Given the description of an element on the screen output the (x, y) to click on. 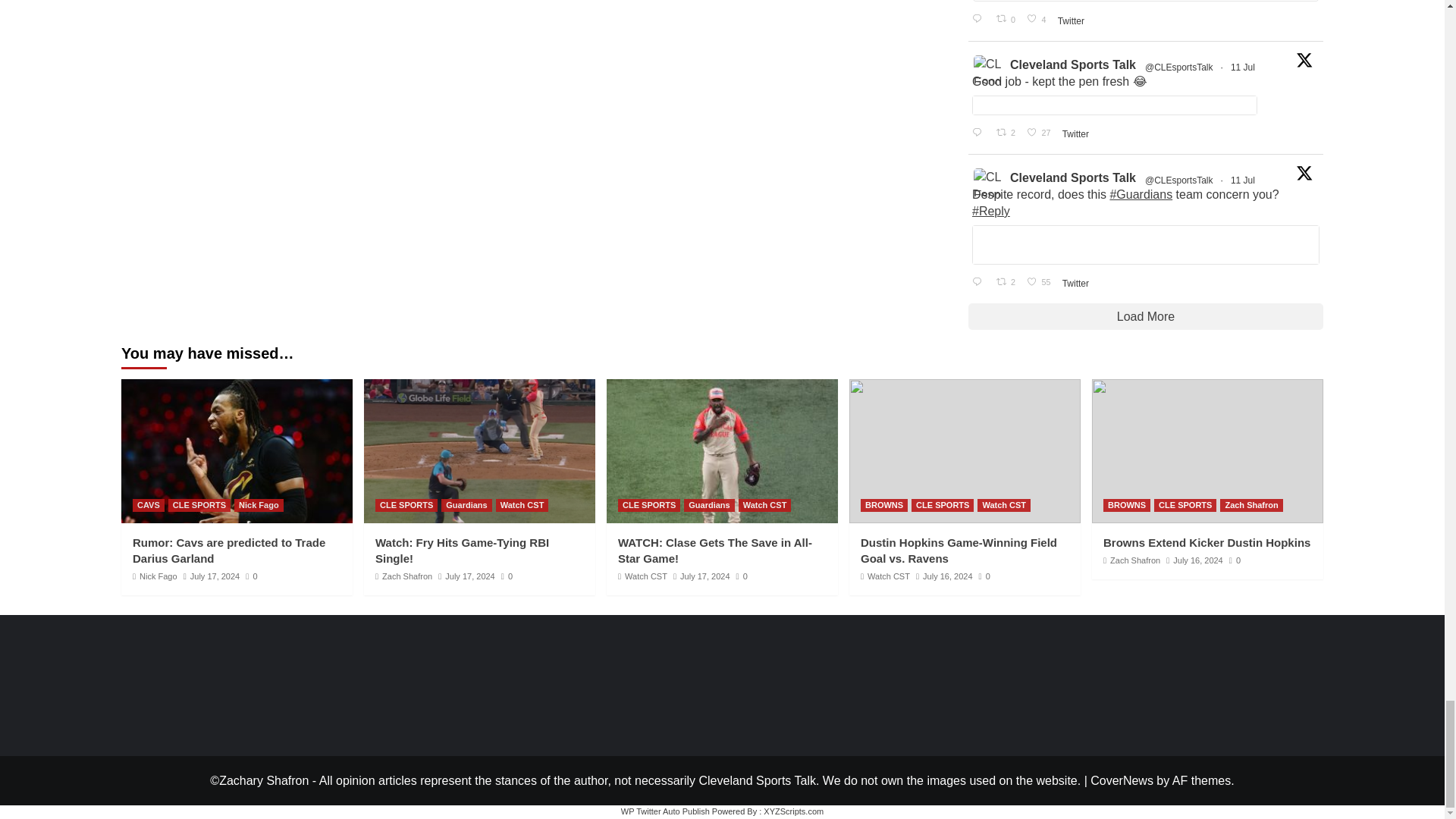
WP Twitter Auto Publish (665, 810)
